Given the description of an element on the screen output the (x, y) to click on. 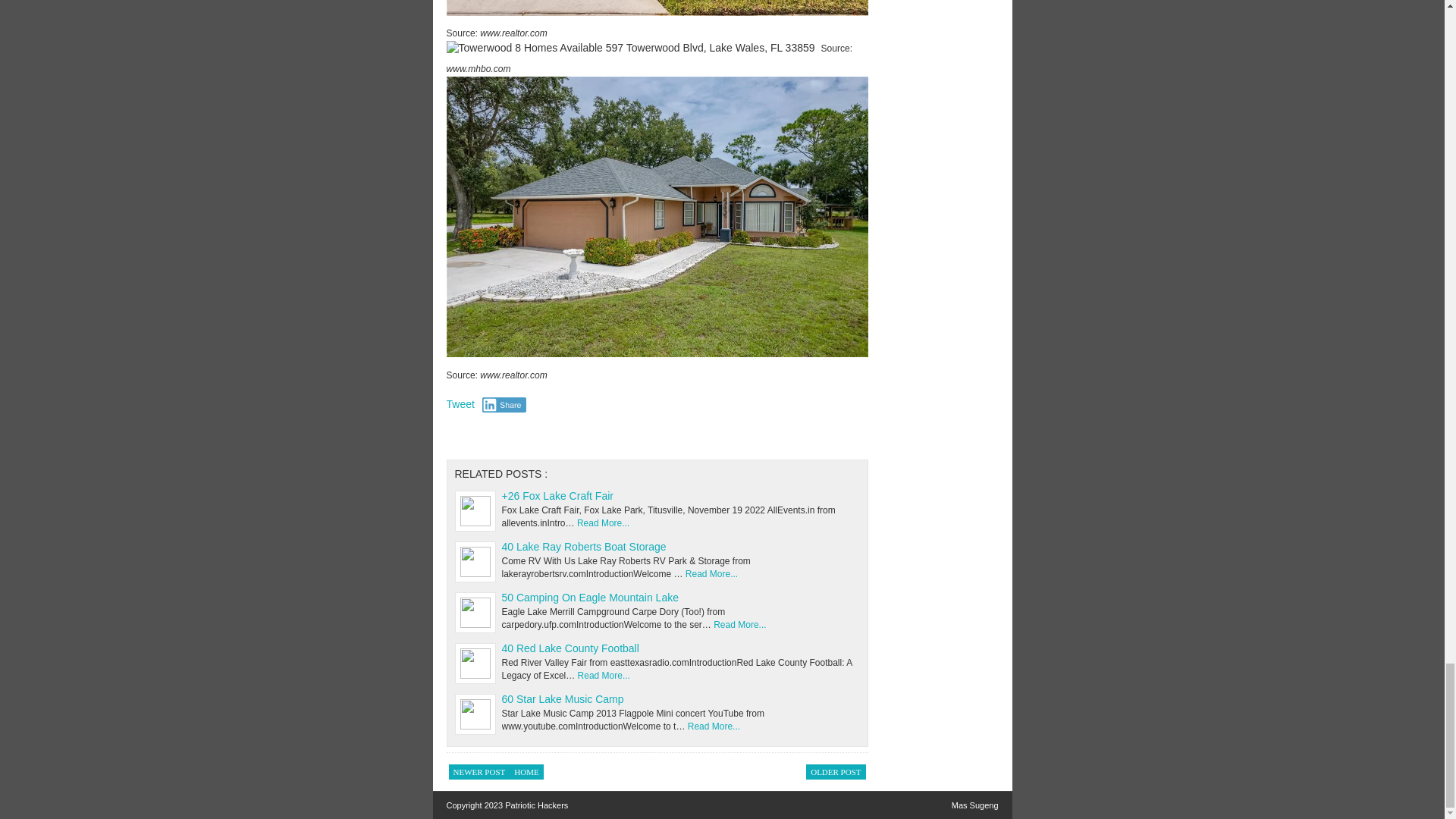
40 Lake Ray Roberts Boat Storage (584, 546)
50 Camping On Eagle Mountain Lake (590, 597)
Tweet (459, 404)
Mas Sugeng (975, 804)
Read More... (711, 573)
Read More... (713, 726)
40 Lake Ray Roberts Boat Storage (584, 546)
Share (504, 404)
Mas Sugeng Blog (975, 804)
Read More... (739, 624)
60 Star Lake Music Camp (563, 698)
60 Star Lake Music Camp (563, 698)
Older Post (835, 771)
HOME (526, 771)
OLDER POST (835, 771)
